Given the description of an element on the screen output the (x, y) to click on. 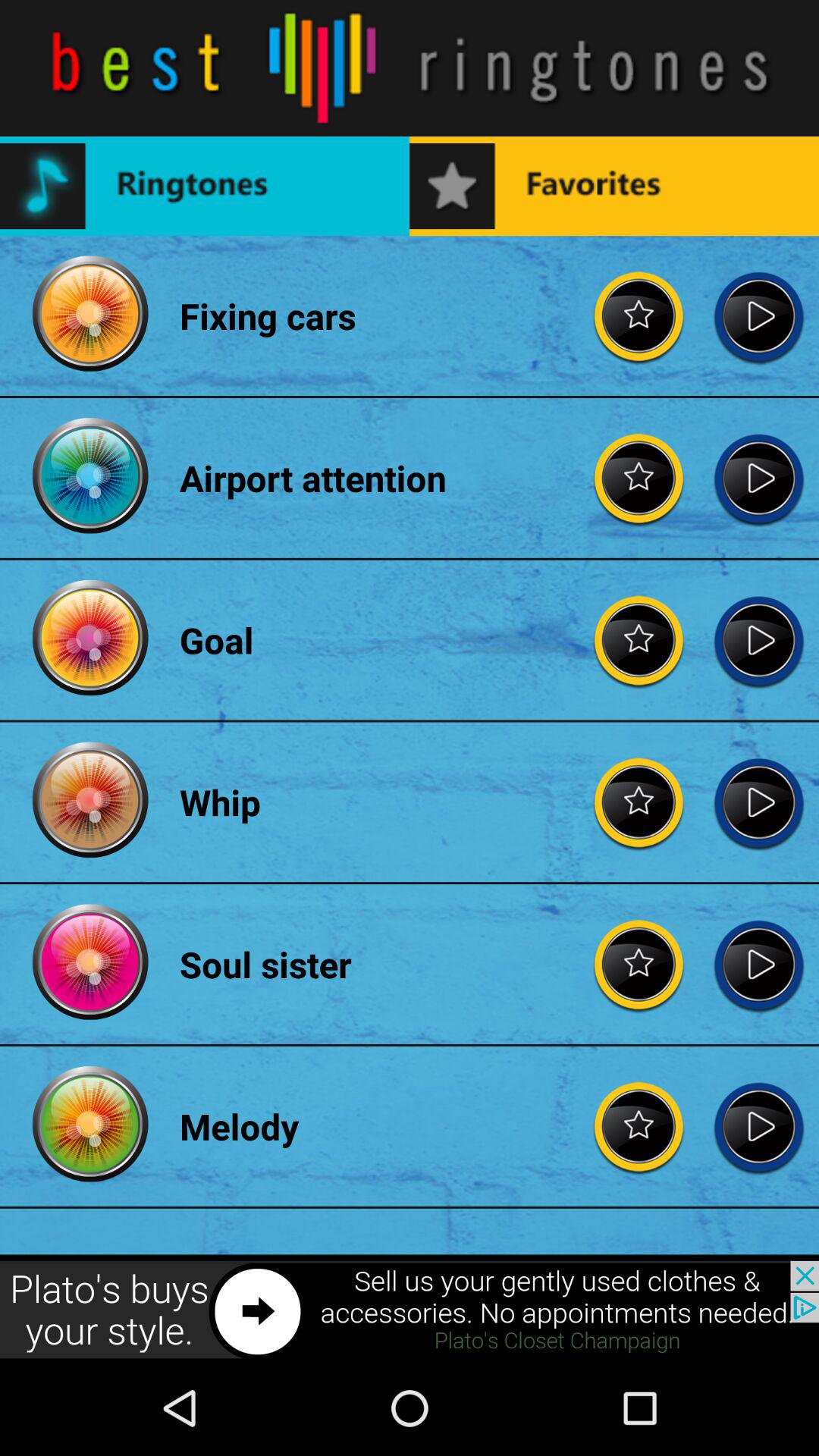
for play (758, 801)
